Given the description of an element on the screen output the (x, y) to click on. 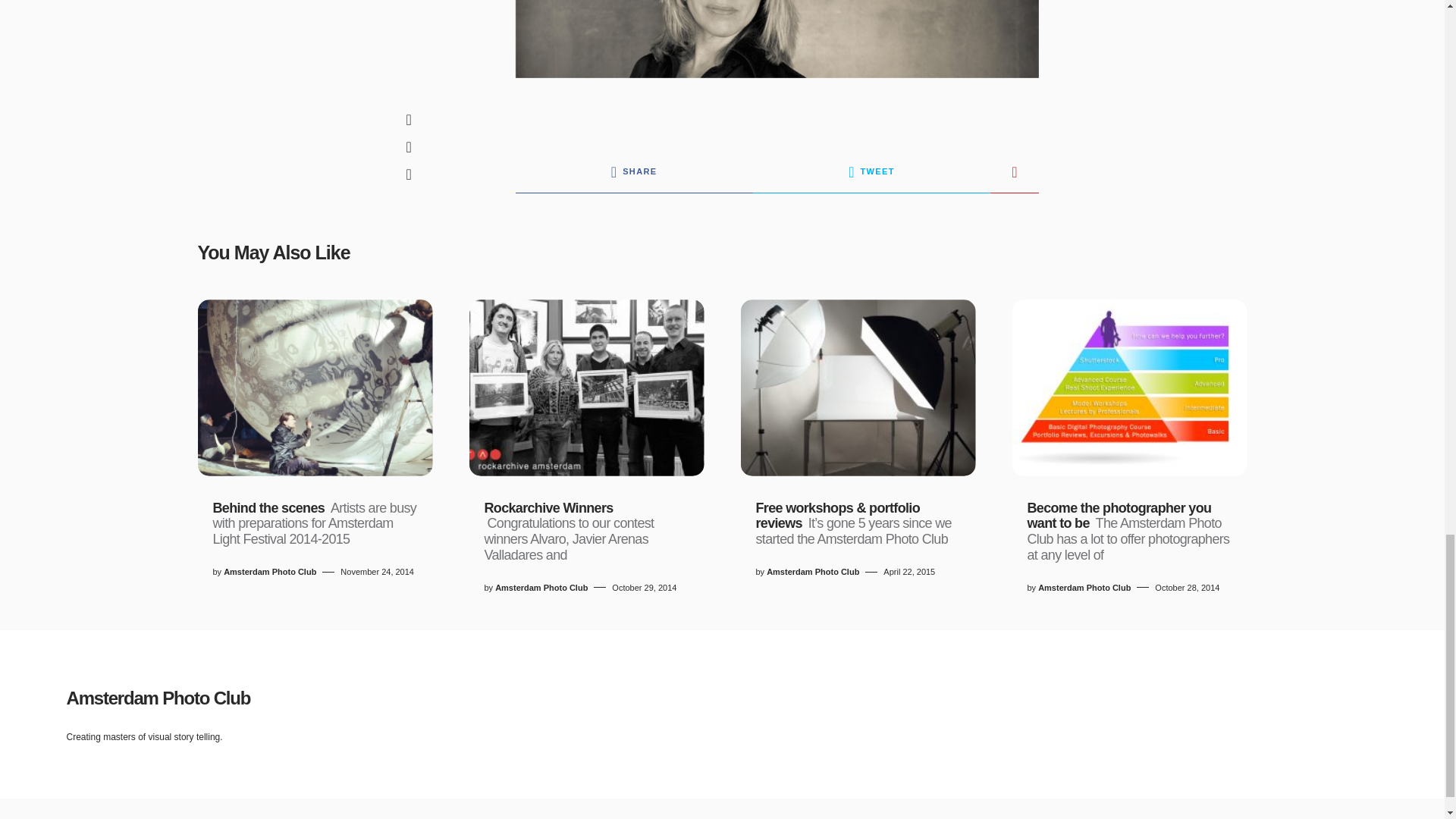
View all posts by Amsterdam Photo Club (541, 587)
View all posts by Amsterdam Photo Club (1084, 587)
View all posts by Amsterdam Photo Club (813, 571)
View all posts by Amsterdam Photo Club (269, 571)
